Given the description of an element on the screen output the (x, y) to click on. 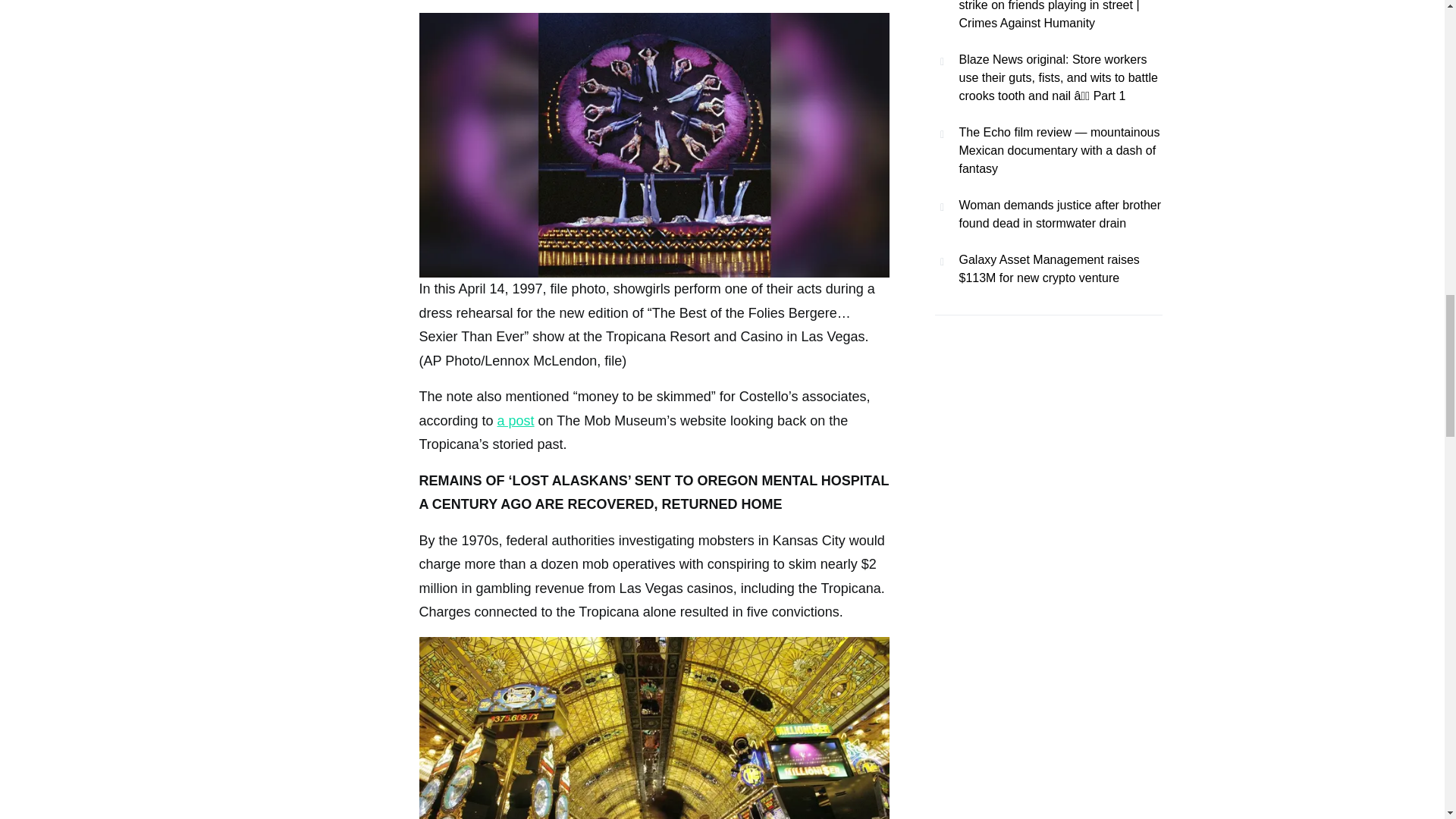
a post (515, 420)
